Given the description of an element on the screen output the (x, y) to click on. 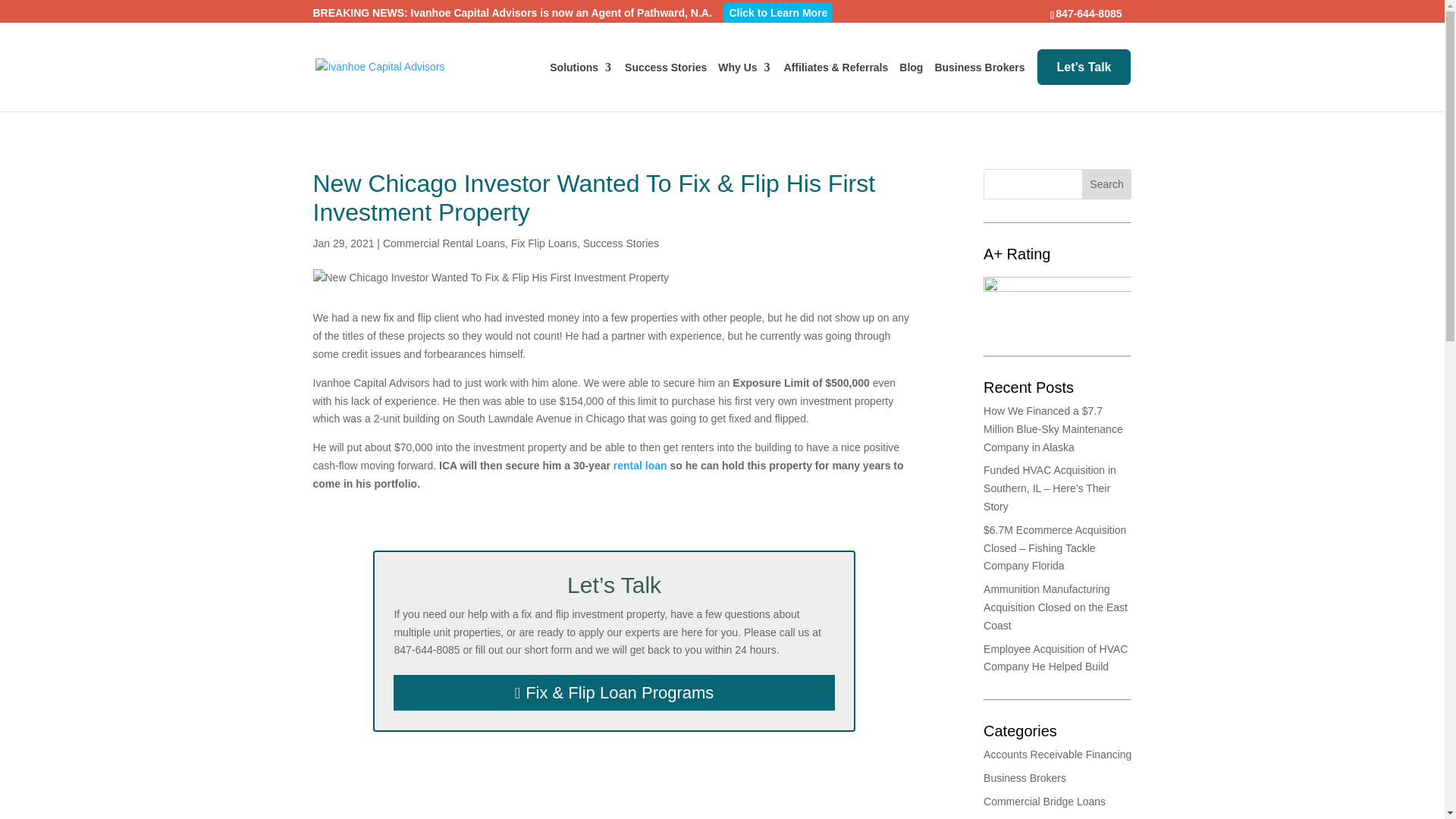
Fix Flip Loans (543, 243)
Success Stories (665, 79)
Solutions (581, 79)
Commercial Rental Loans (443, 243)
rental loan (639, 465)
847-644-8085 (1090, 13)
Business Brokers (979, 79)
Accounts Receivable Financing (1057, 754)
Click to Learn More (777, 12)
Why Us (744, 79)
Success Stories (621, 243)
Employee Acquisition of HVAC Company He Helped Build (1055, 657)
Search (1106, 183)
Search (1106, 183)
